Given the description of an element on the screen output the (x, y) to click on. 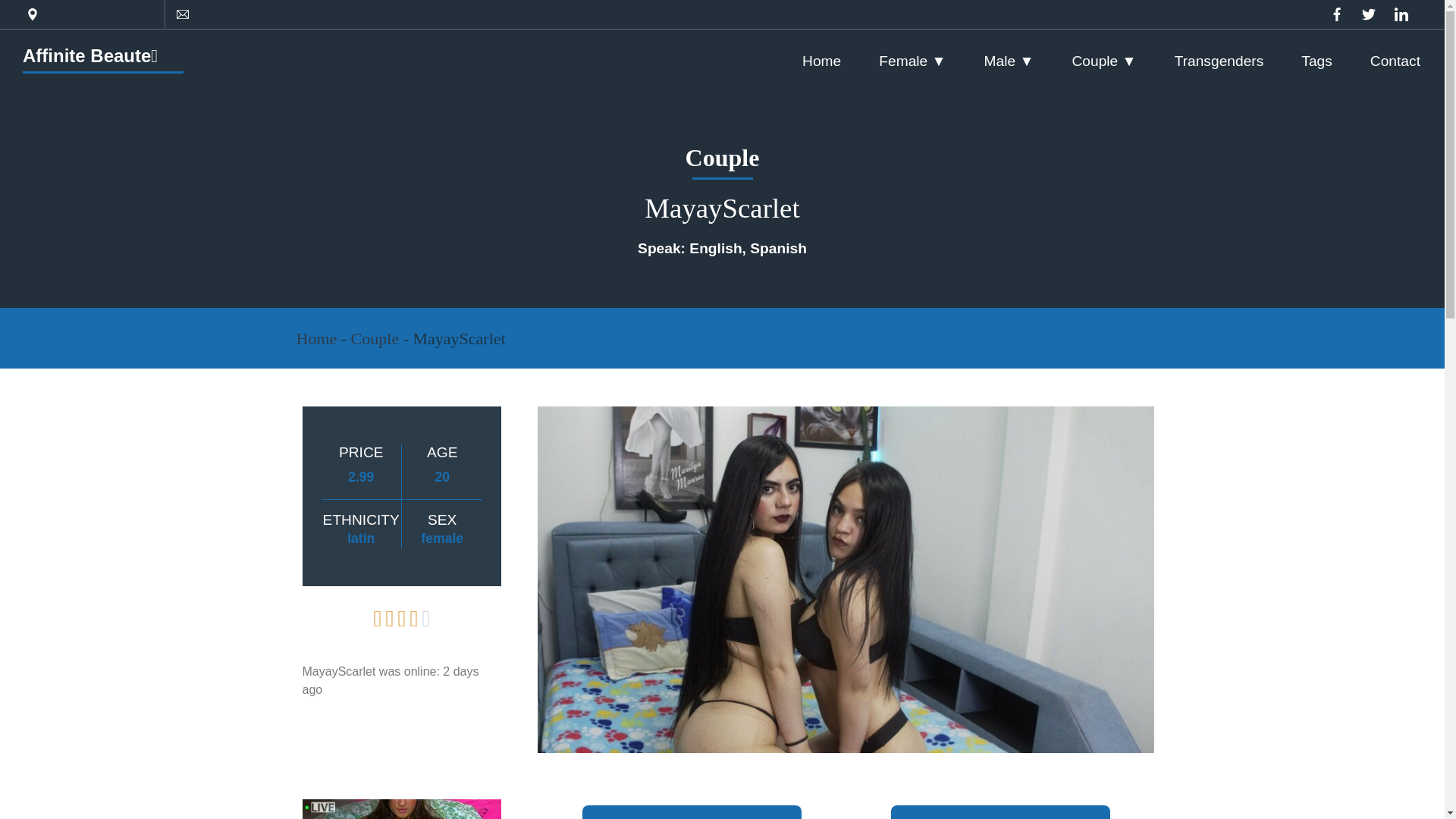
London (189, 14)
Couple ? (1103, 61)
Transgenders (1218, 61)
Home (315, 338)
Transgenders (1218, 61)
Female ? (911, 61)
Affinite Beaute?? (90, 55)
Couple (374, 338)
